Given the description of an element on the screen output the (x, y) to click on. 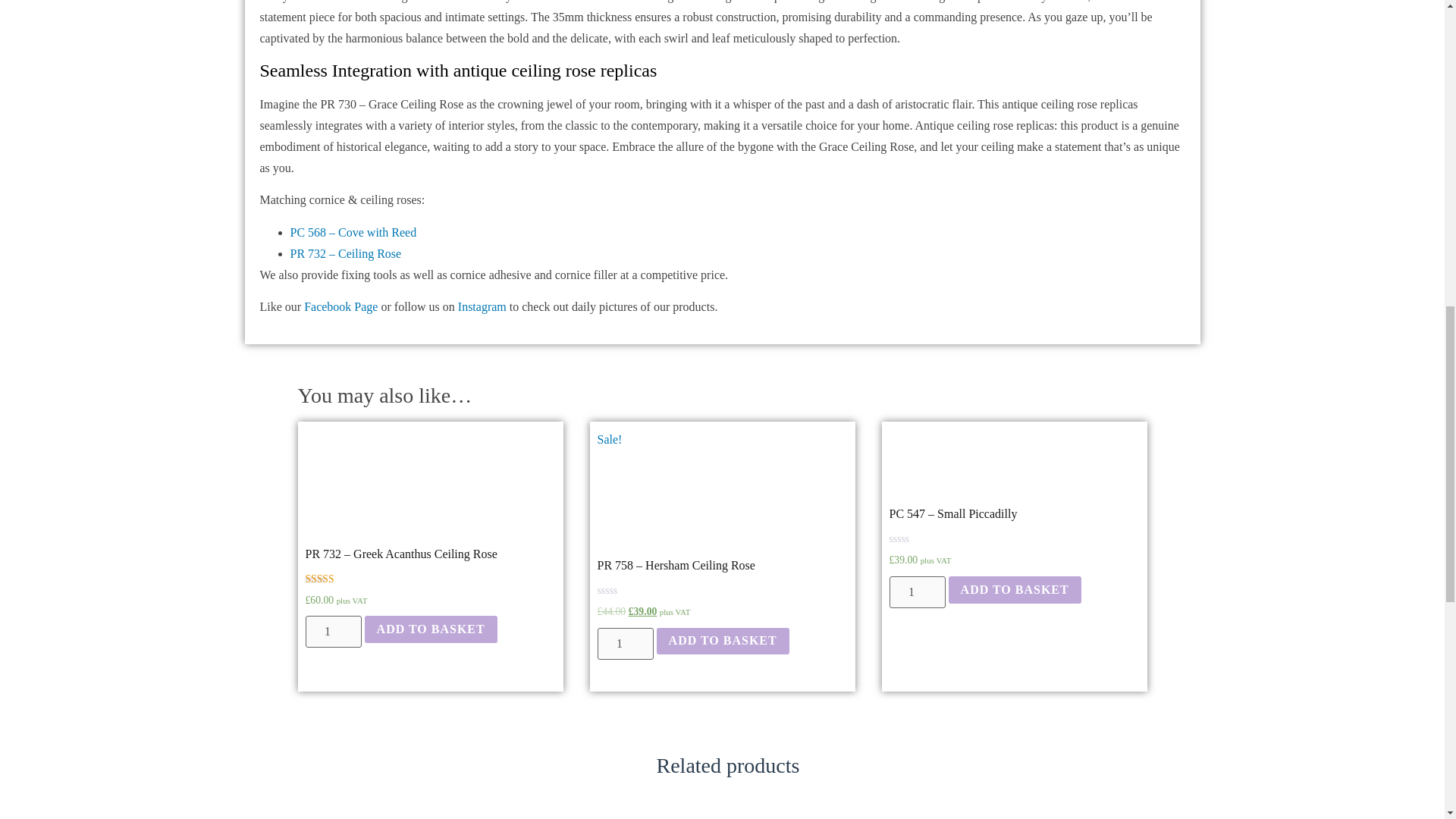
1 (332, 631)
1 (916, 592)
1 (624, 644)
